Given the description of an element on the screen output the (x, y) to click on. 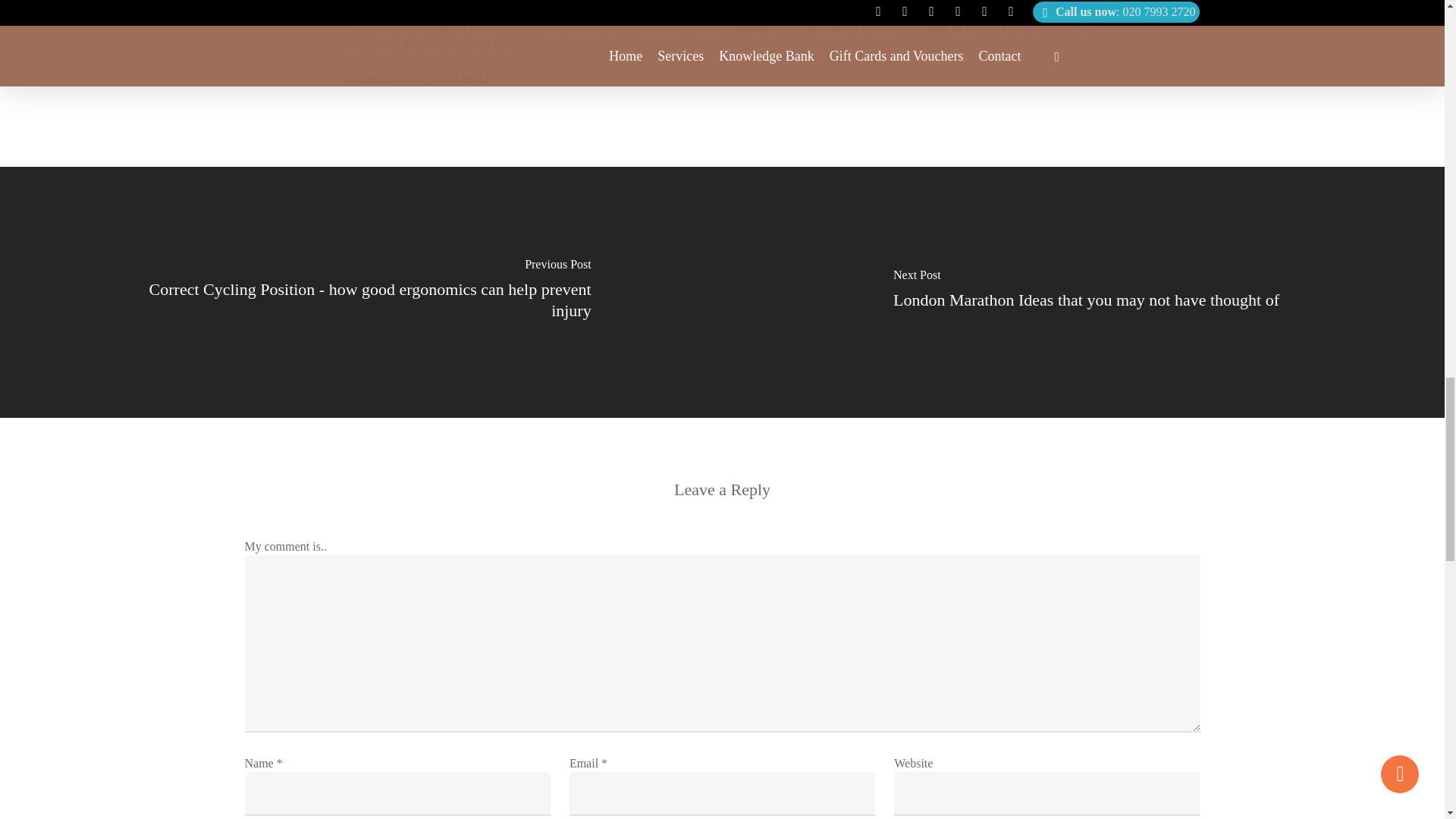
contact us (853, 26)
treatments (759, 26)
